Given the description of an element on the screen output the (x, y) to click on. 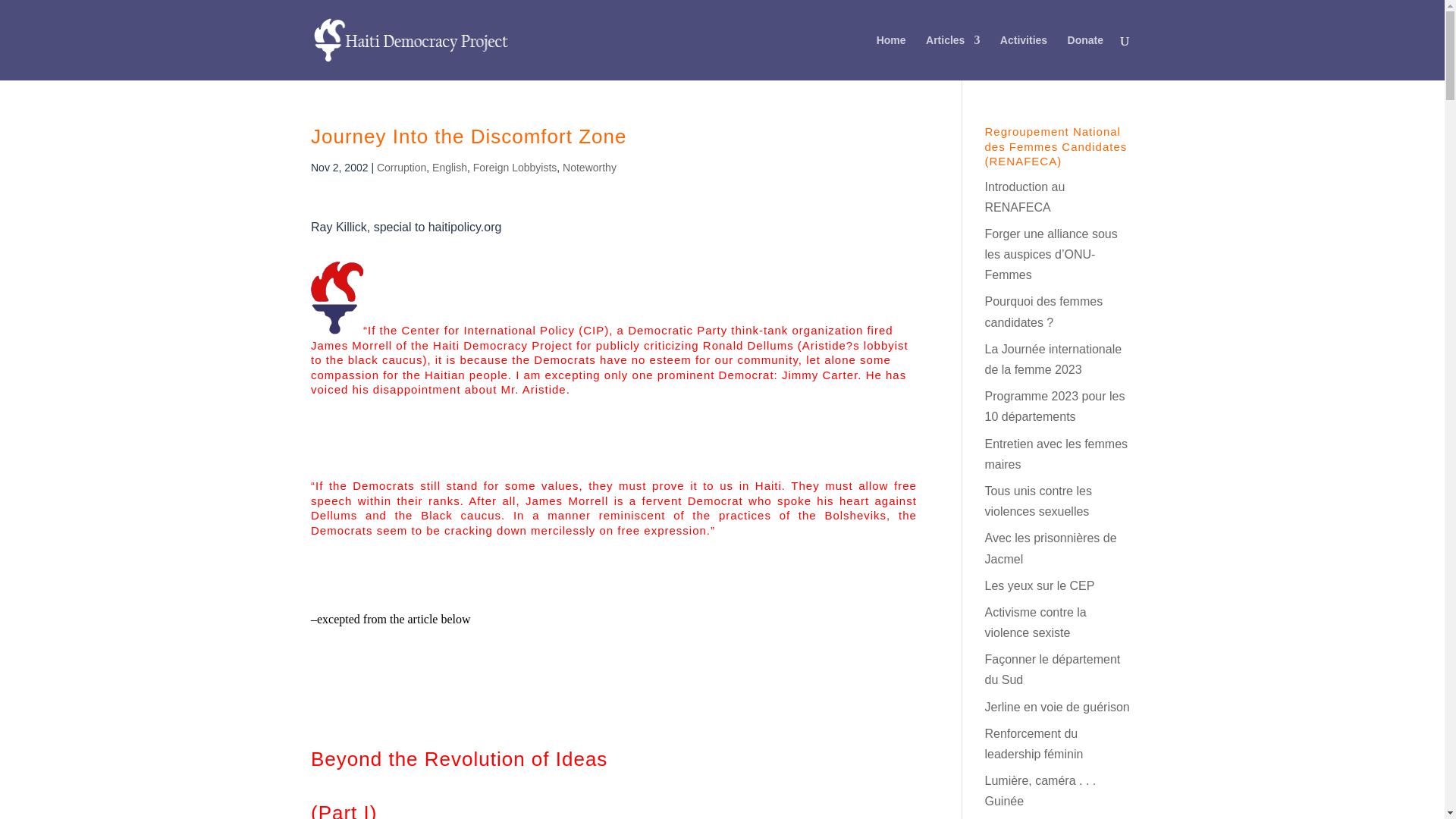
Noteworthy (588, 167)
Foreign Lobbyists (515, 167)
English (449, 167)
Les yeux sur le CEP (1039, 585)
Lights, Camera . . . Guinea (1040, 790)
Shaping Up the Sud Department  (1051, 669)
Pourquoi des femmes candidates ? (1043, 311)
Web of Agenda over the Whole Ten Coigns (1054, 406)
Jerline on the Mend  (1056, 707)
Tous unis contre les violences sexuelles (1037, 500)
